Given the description of an element on the screen output the (x, y) to click on. 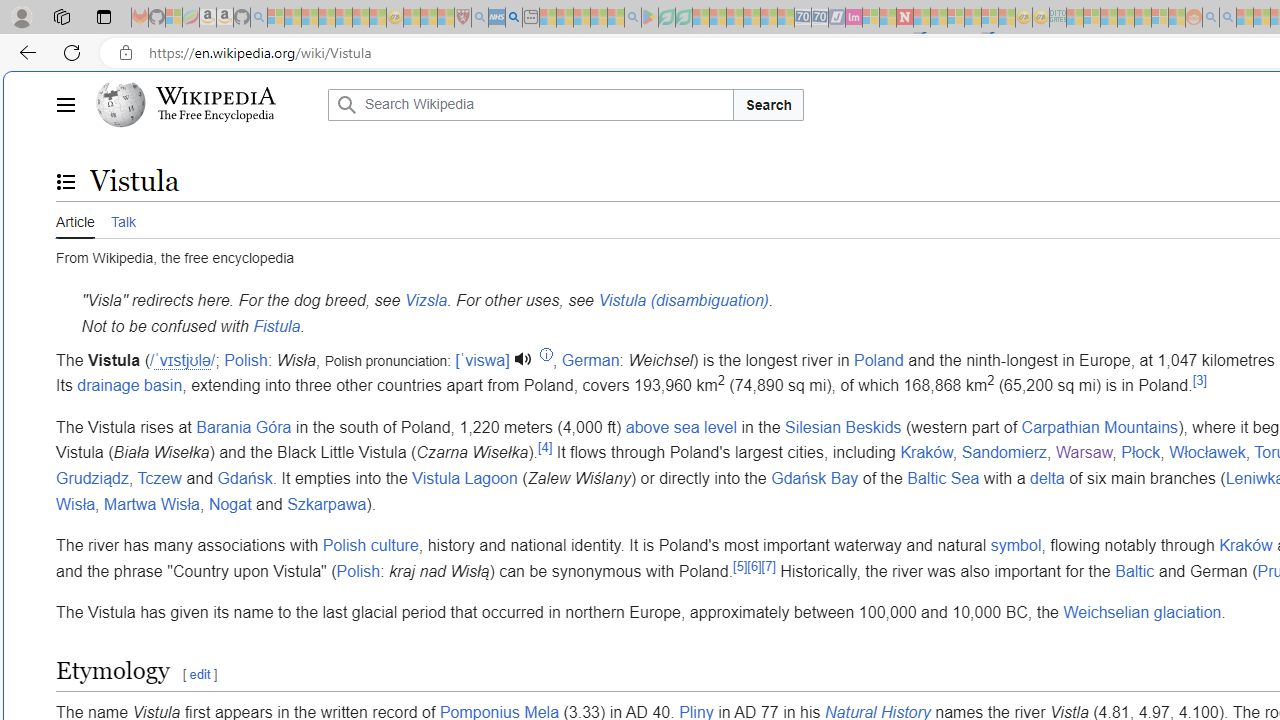
Baltic Sea (943, 477)
NCL Adult Asthma Inhaler Choice Guideline - Sleeping (497, 17)
delta (1047, 477)
DITOGAMES AG Imprint - Sleeping (1057, 17)
Warsaw (1084, 453)
Article (75, 219)
Trusted Community Engagement and Contributions | Guidelines (921, 17)
